Given the description of an element on the screen output the (x, y) to click on. 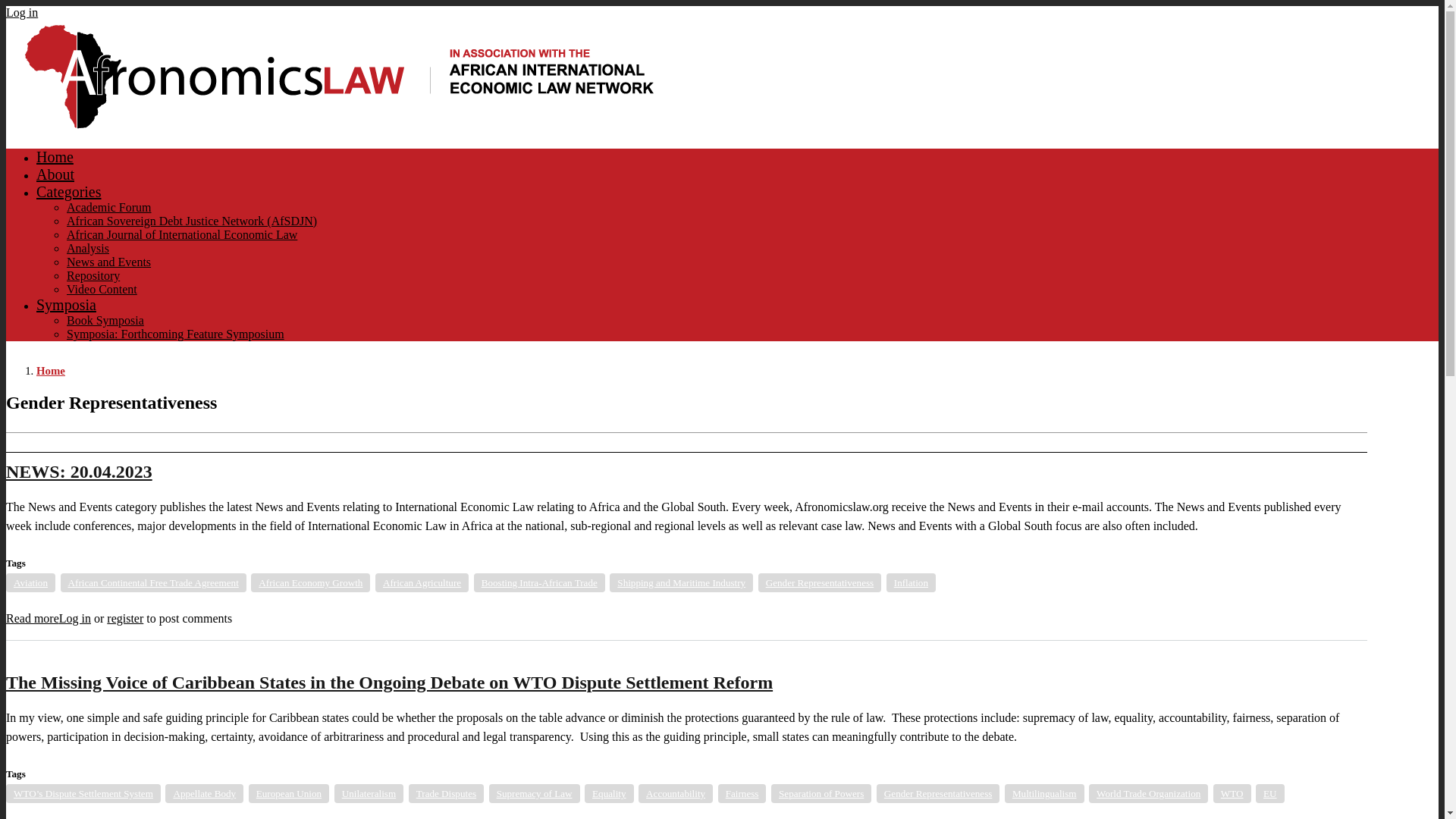
Home (55, 156)
Supremacy of Law (534, 793)
NEWS: 20.04.2023 (32, 617)
Book Symposia (105, 319)
Unilateralism (368, 793)
African Economy Growth (309, 582)
News and Events (108, 261)
Symposia: Forthcoming Feature Symposium (174, 333)
News and Events (108, 261)
